Given the description of an element on the screen output the (x, y) to click on. 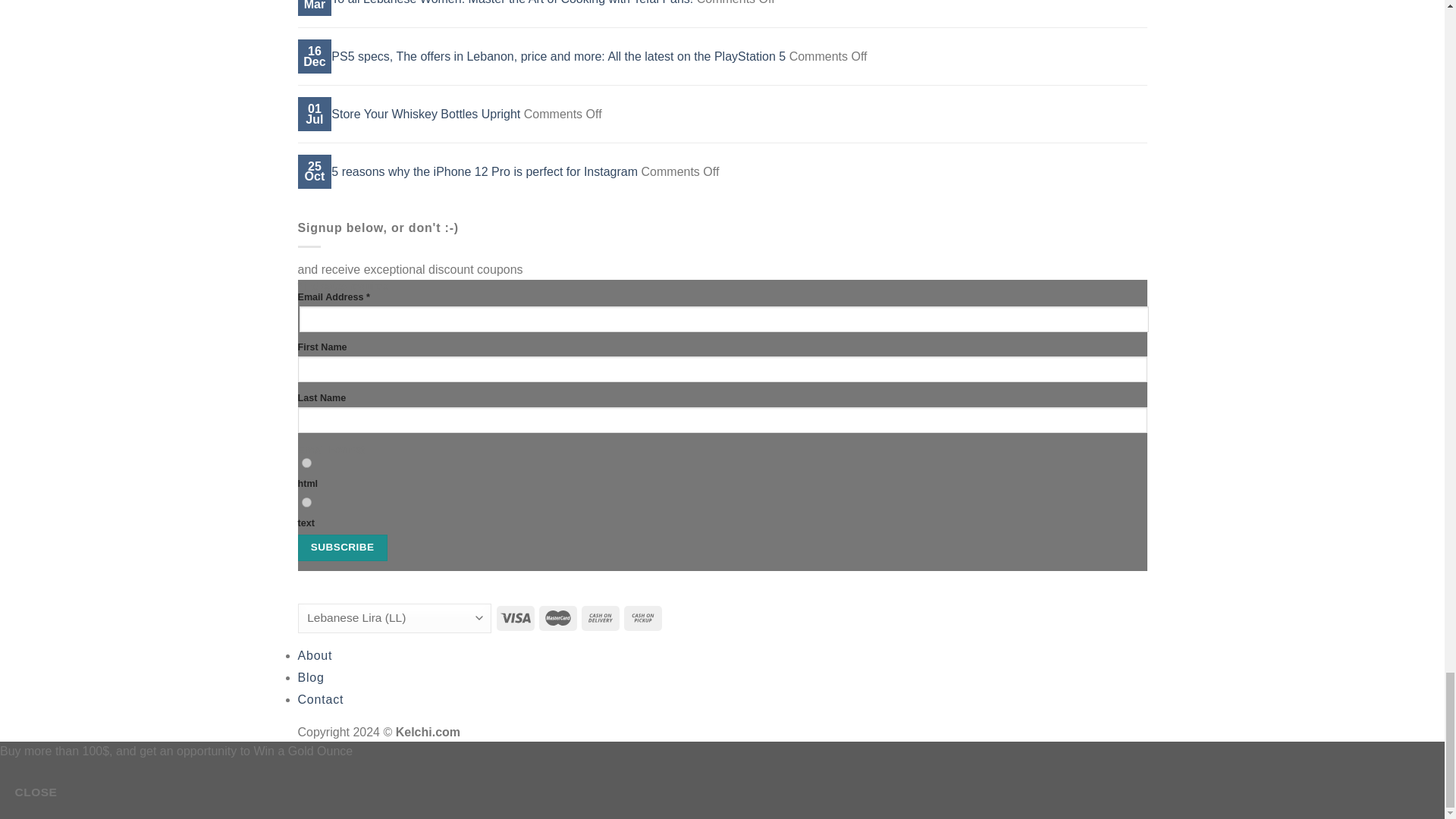
Store Your Whiskey Bottles Upright (425, 113)
html (306, 462)
text (306, 501)
Subscribe (342, 547)
